Given the description of an element on the screen output the (x, y) to click on. 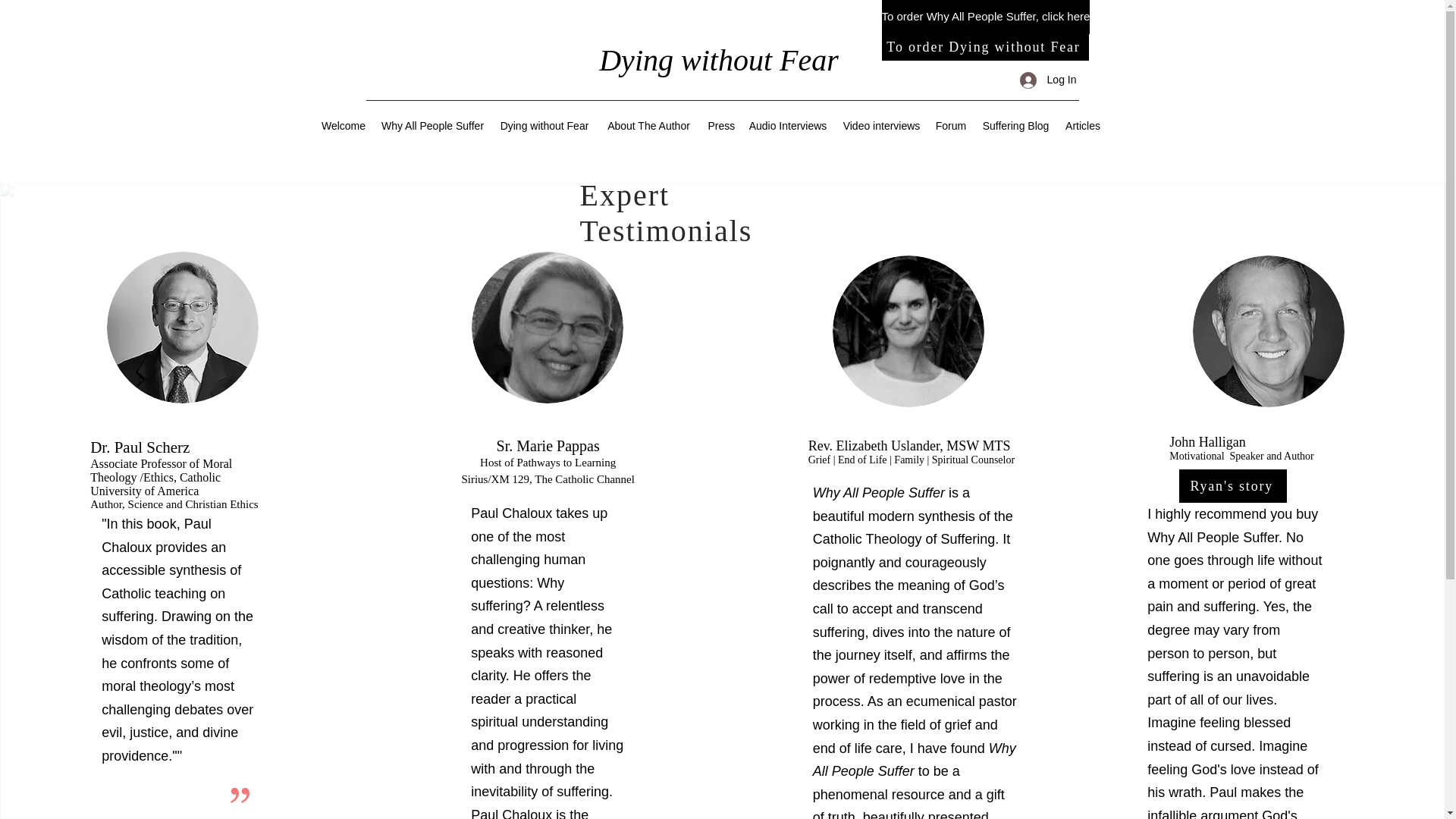
Video interviews (881, 125)
GettyImages-535587703.jpg (182, 327)
To order Dying without Fear (983, 47)
Why All People Suffer (432, 125)
GettyImages-124893619.jpg (547, 327)
Articles (1082, 125)
GettyImages-145680711.jpg (908, 331)
Log In (1048, 80)
Welcome (344, 125)
Dying without Fear (544, 125)
To order Why All People Suffer, click here (984, 17)
Audio Interviews (786, 125)
GettyImages-145680711.jpg (1267, 331)
Ryan's story (1233, 485)
Suffering Blog (1015, 125)
